Given the description of an element on the screen output the (x, y) to click on. 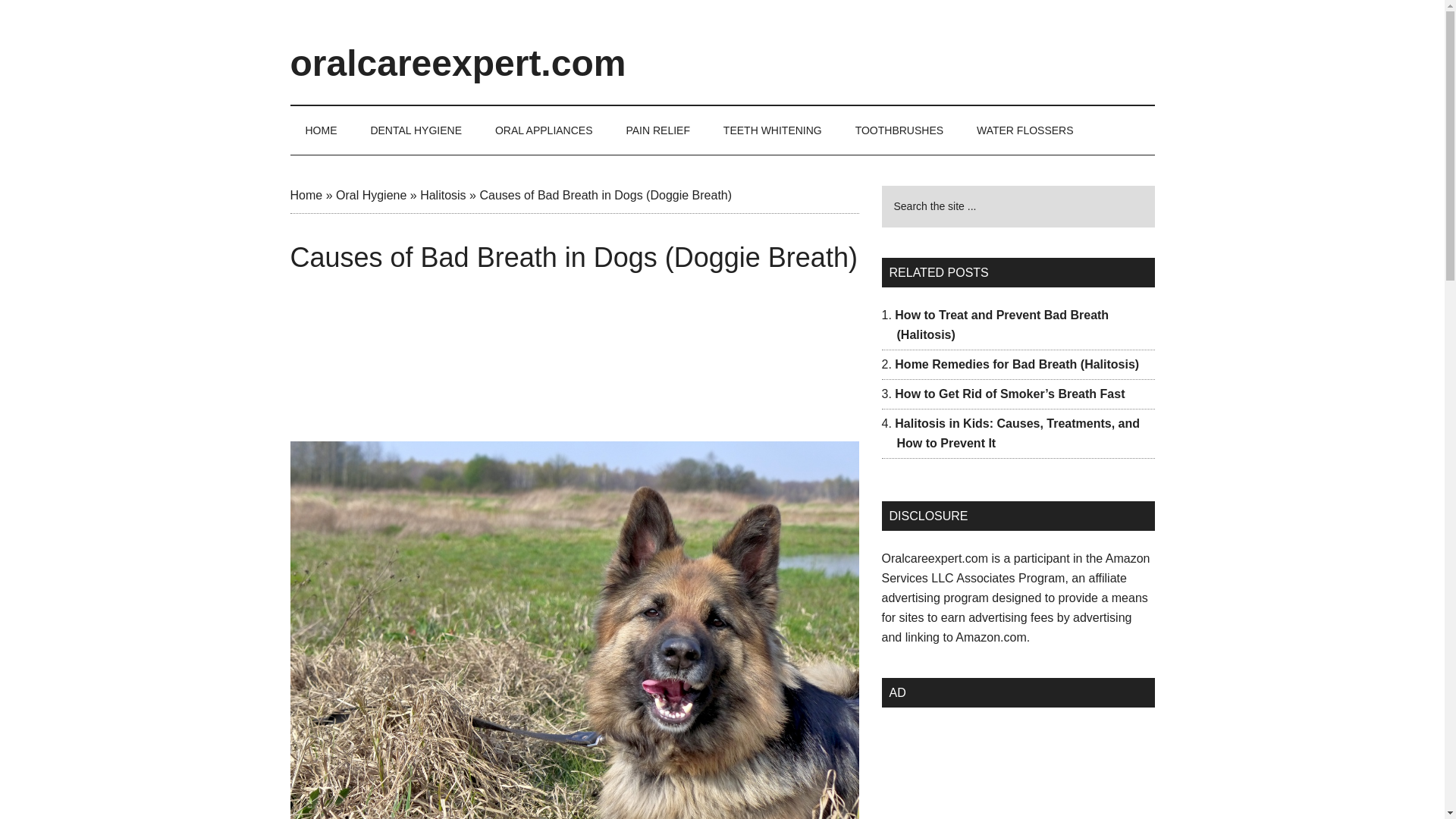
TOOTHBRUSHES (899, 130)
WATER FLOSSERS (1024, 130)
HOME (320, 130)
Halitosis in Kids: Causes, Treatments, and How to Prevent It (1017, 432)
TEETH WHITENING (772, 130)
ORAL APPLIANCES (544, 130)
Advertisement (574, 362)
Home (305, 195)
